Given the description of an element on the screen output the (x, y) to click on. 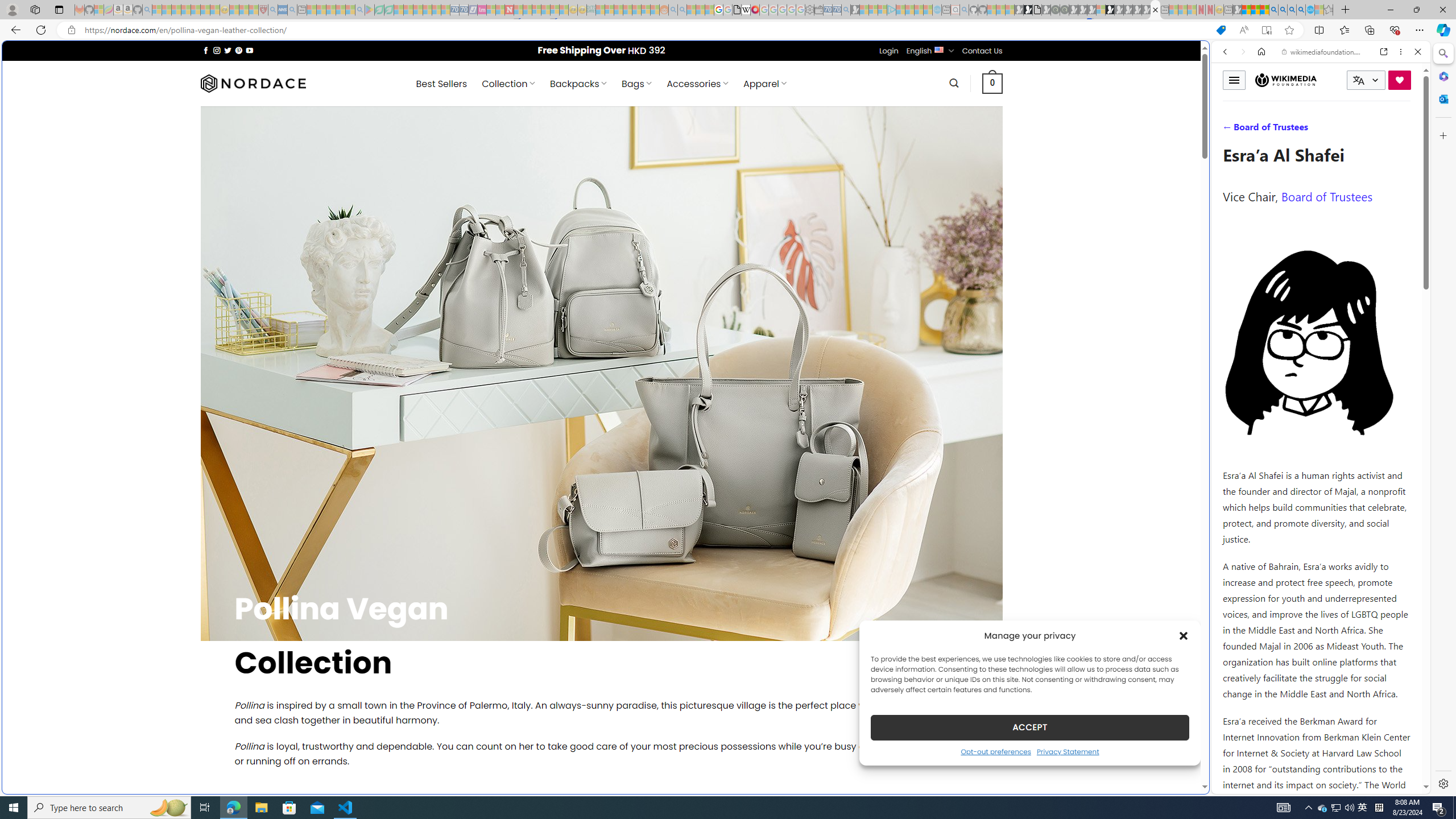
Toggle menu (1233, 80)
